Given the description of an element on the screen output the (x, y) to click on. 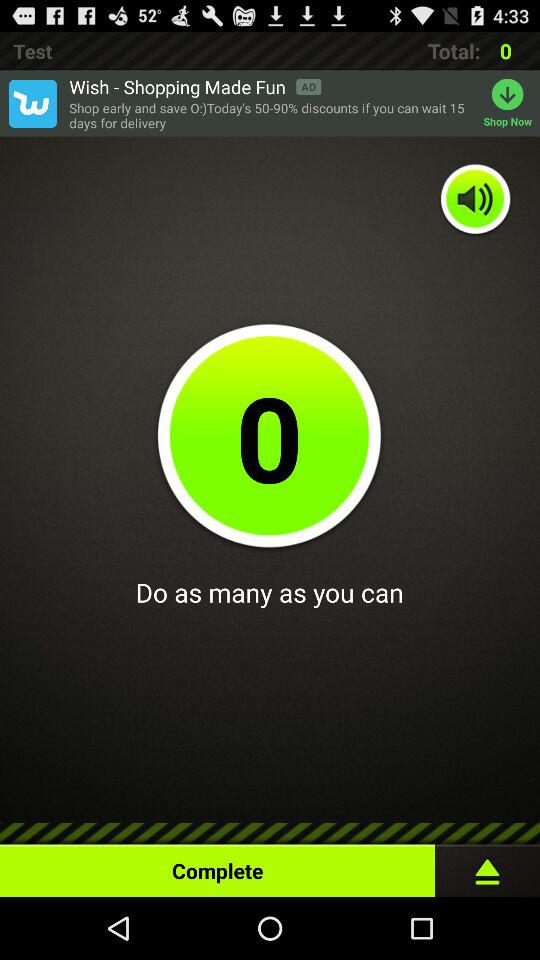
increase volume (475, 200)
